Given the description of an element on the screen output the (x, y) to click on. 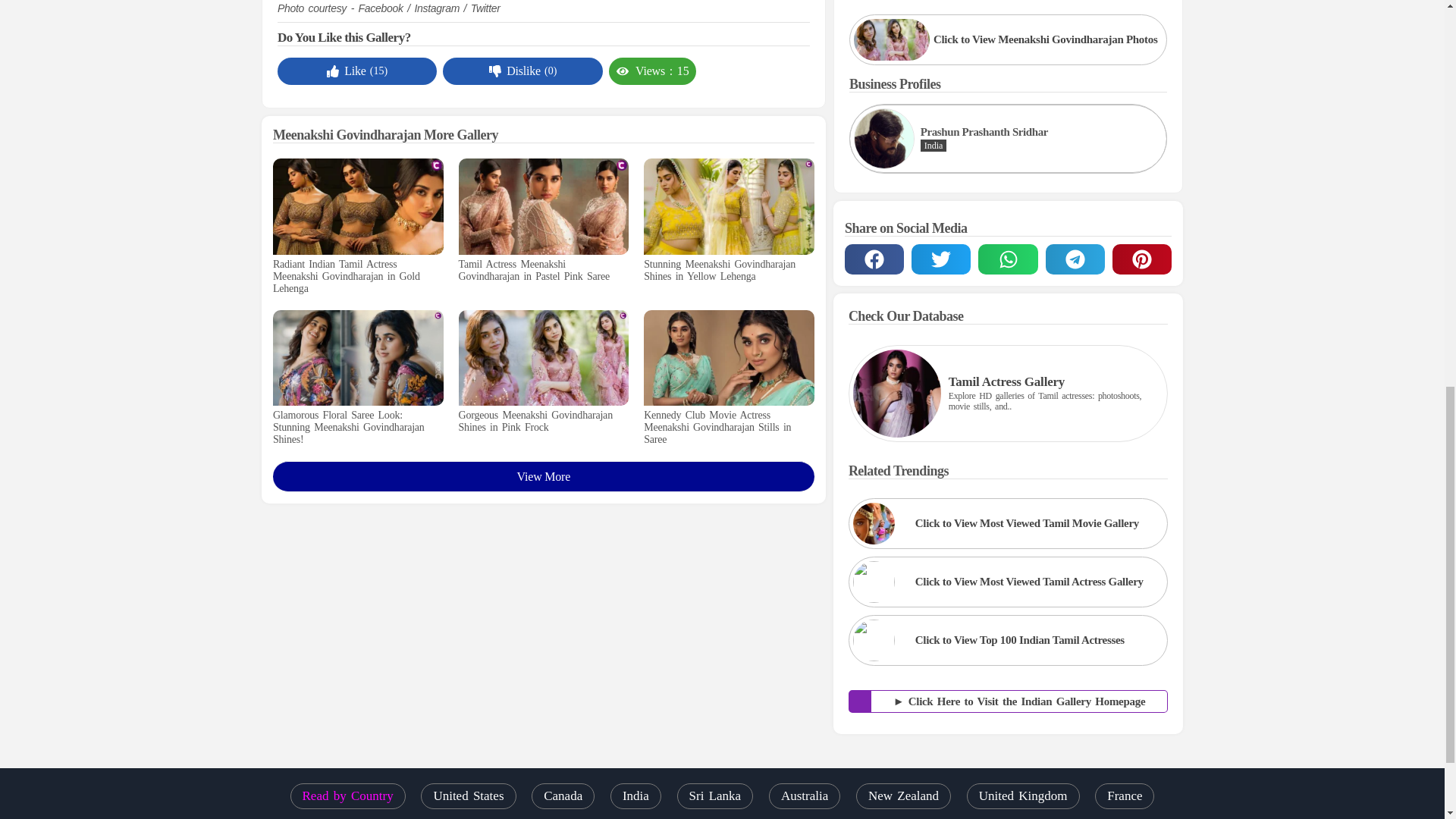
Tamil Actress Meenakshi Govindharajan in Pastel Pink Saree (543, 270)
Dislike (514, 70)
Stunning Meenakshi Govindharajan Shines in Yellow Lehenga (728, 270)
View More (543, 476)
Gorgeous Meenakshi Govindharajan Shines in Pink Frock (543, 421)
Like (346, 70)
